Given the description of an element on the screen output the (x, y) to click on. 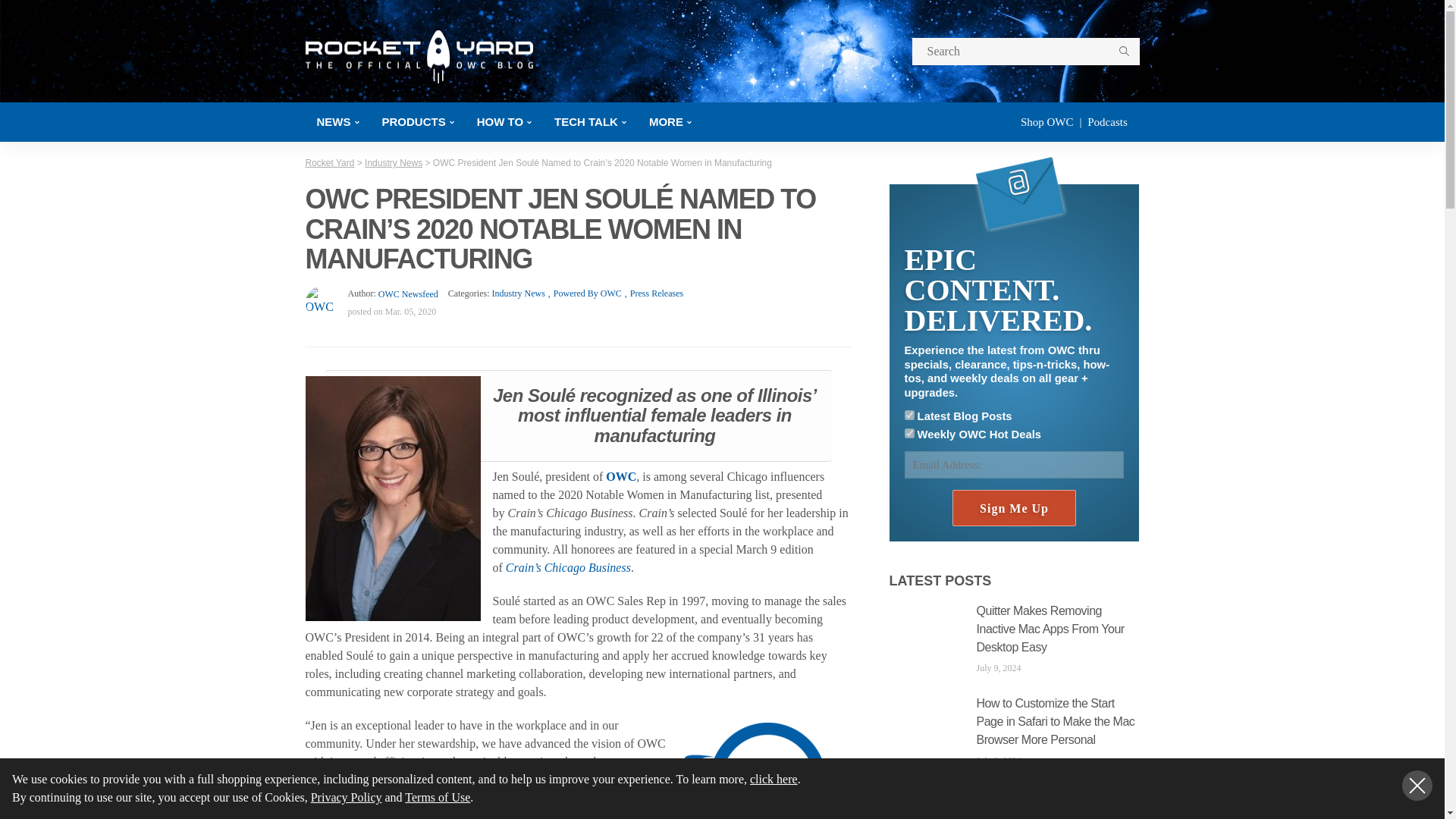
Powered by OWC (582, 293)
Industry News (518, 293)
Go to Rocket Yard. (328, 163)
Press Releases (651, 293)
NEWS (336, 121)
Sign Me Up (1013, 507)
0bcd03ec00000000000000000000001f995c (909, 415)
search for: (1024, 51)
Go to the Industry News category archives. (393, 163)
